Given the description of an element on the screen output the (x, y) to click on. 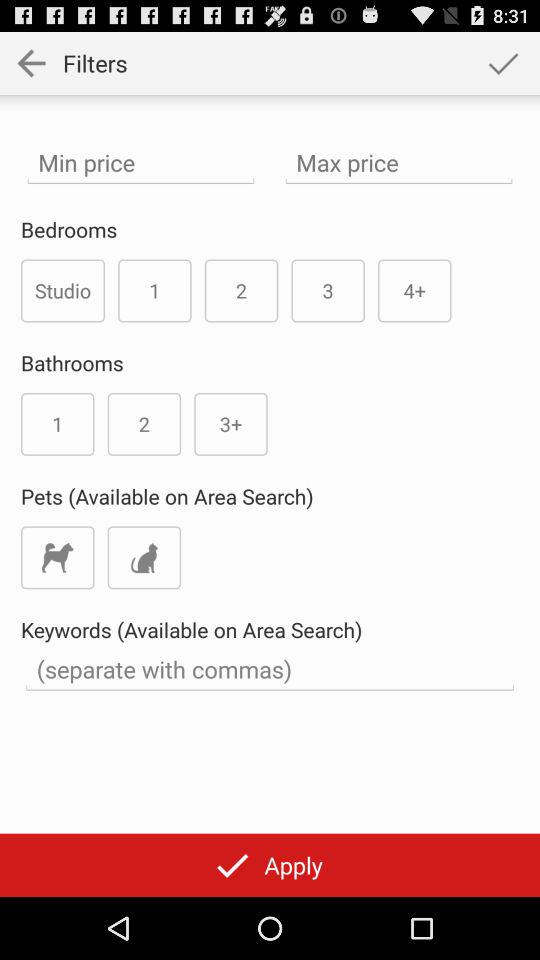
press the app to the right of the filters app (503, 62)
